Given the description of an element on the screen output the (x, y) to click on. 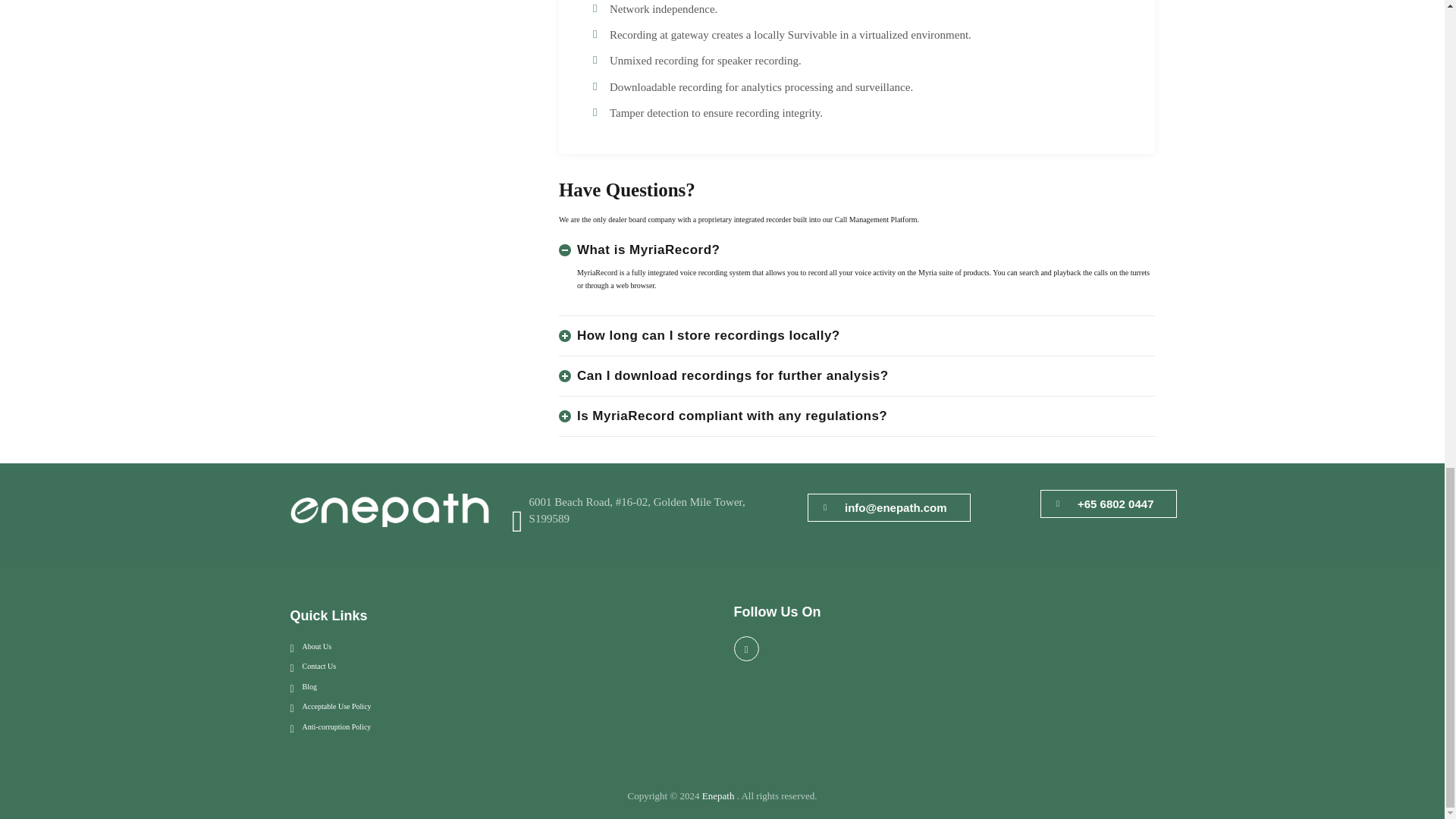
Acceptable Use Policy (330, 706)
Contact Us (312, 666)
Blog (302, 686)
About Us (310, 646)
